Given the description of an element on the screen output the (x, y) to click on. 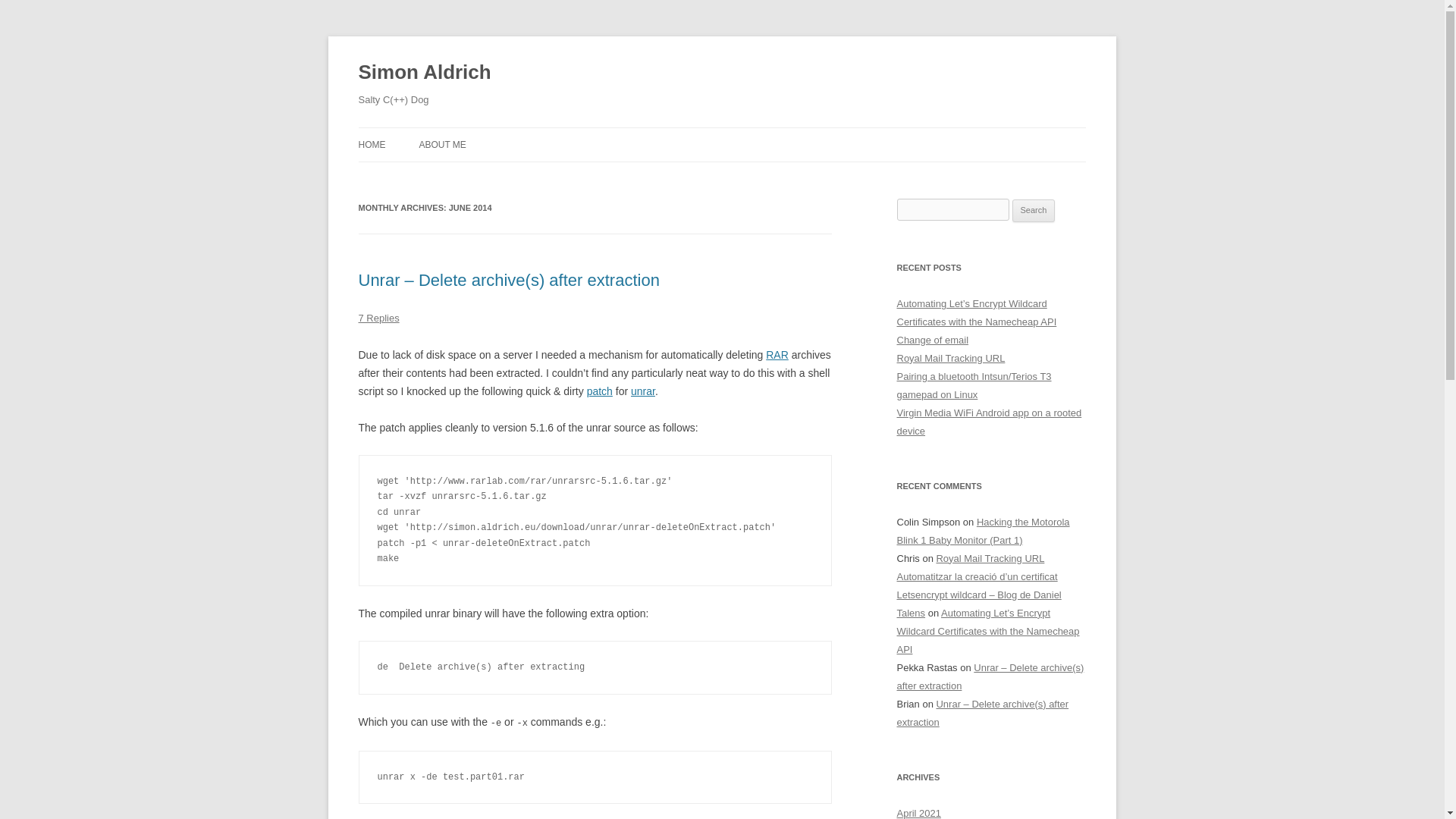
Virgin Media WiFi Android app on a rooted device (988, 421)
7 Replies (378, 317)
unrar (642, 390)
Search (1033, 210)
April 2021 (918, 813)
Royal Mail Tracking URL (950, 357)
patch (599, 390)
Simon Aldrich (424, 72)
HOME (371, 144)
Search (1033, 210)
RAR (777, 354)
Royal Mail Tracking URL (989, 558)
Change of email (932, 339)
ABOUT ME (442, 144)
